Given the description of an element on the screen output the (x, y) to click on. 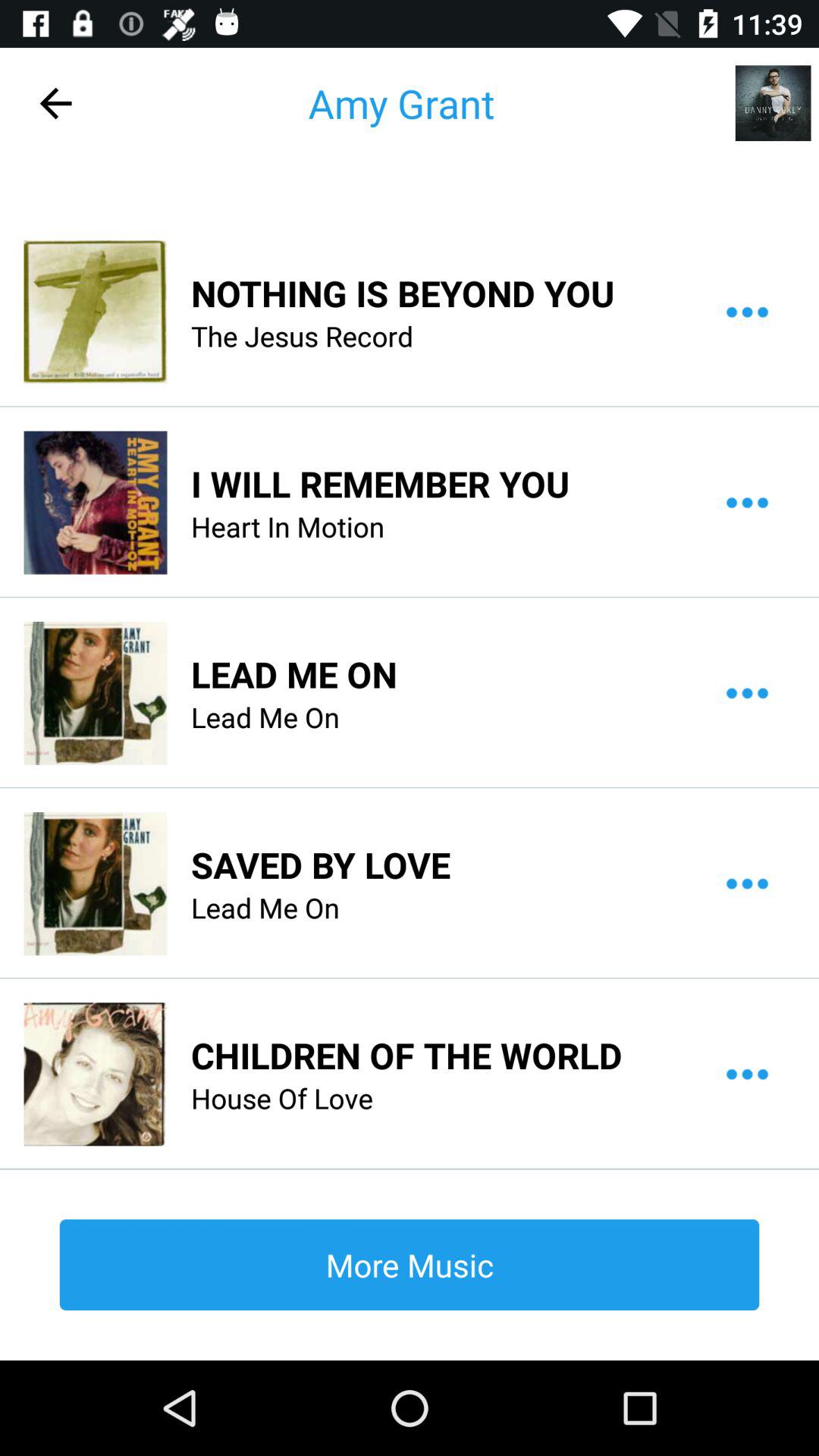
open icon to the left of the saved by love icon (95, 883)
